Given the description of an element on the screen output the (x, y) to click on. 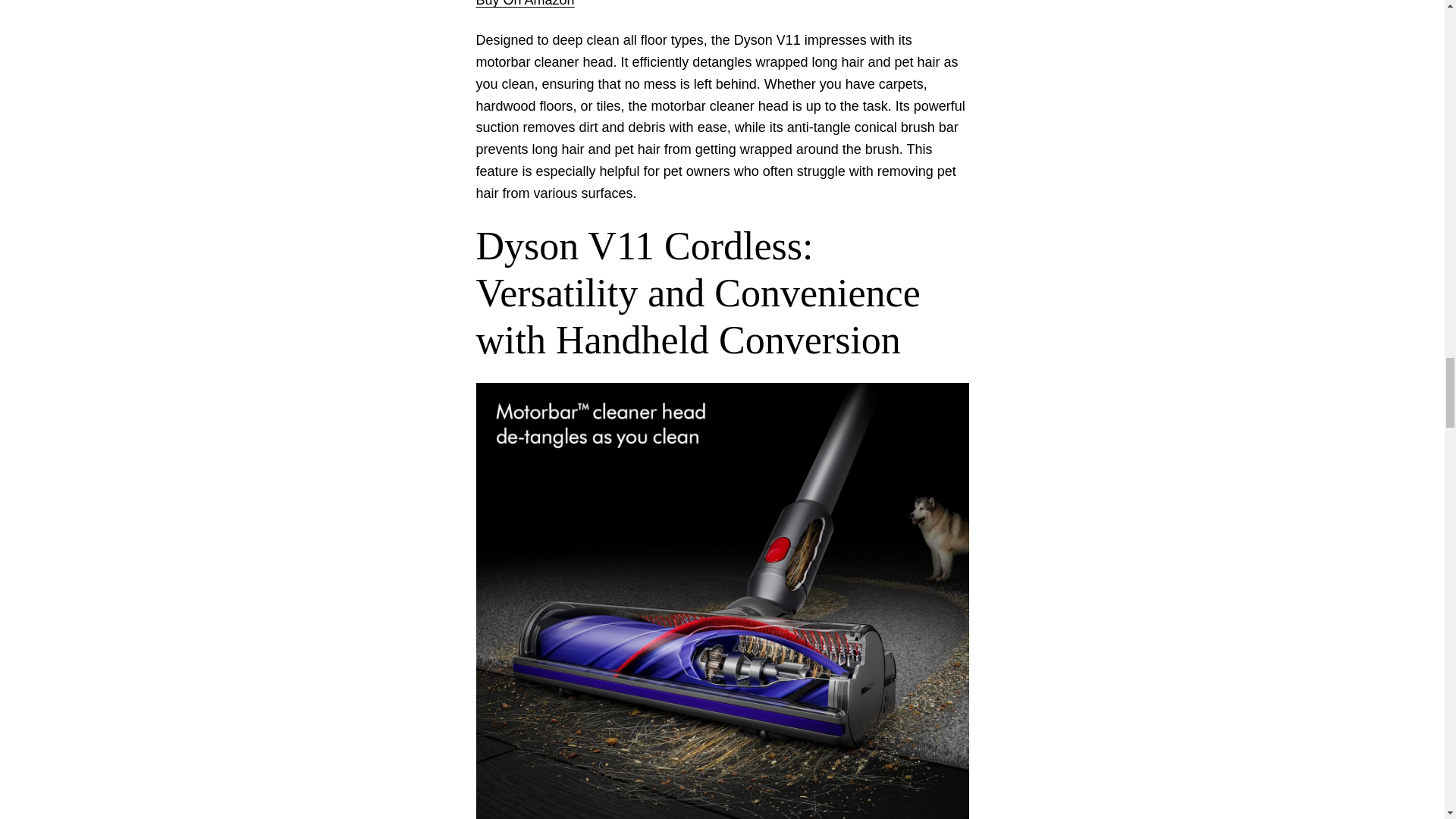
Buy On Amazon (525, 3)
